Given the description of an element on the screen output the (x, y) to click on. 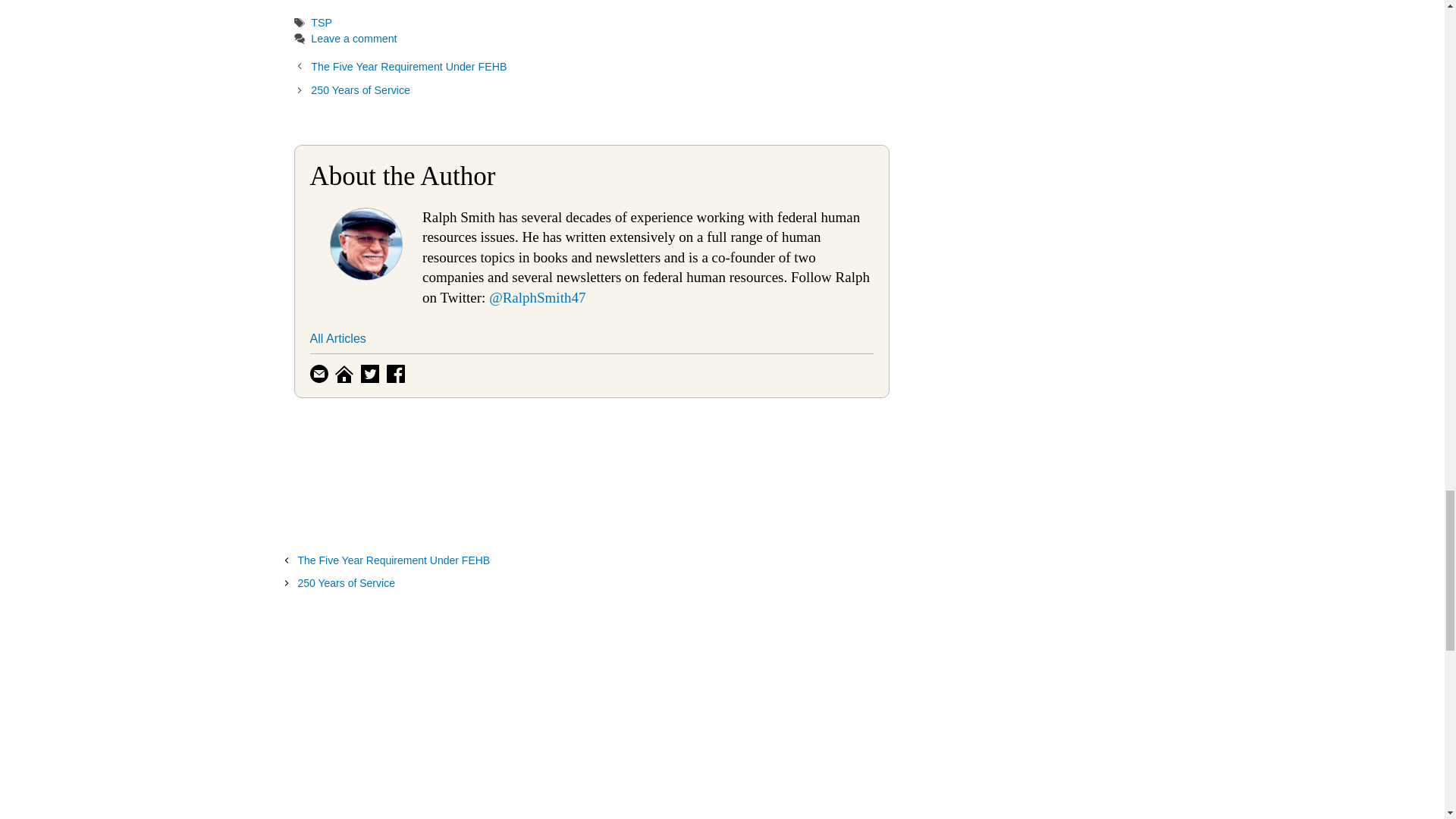
250 Years of Service (360, 90)
Follow Ralph R. Smith on Twitter (371, 371)
Contact Ralph R. Smith (319, 371)
The Five Year Requirement Under FEHB (408, 66)
TSP (321, 22)
All Articles (336, 337)
Leave a comment (353, 38)
Follow Ralph R. Smith on Facebook (398, 371)
Visit website for Ralph R. Smith (345, 371)
View all articles from Ralph R. Smith (366, 275)
See all articles from Ralph R. Smith (336, 337)
